Given the description of an element on the screen output the (x, y) to click on. 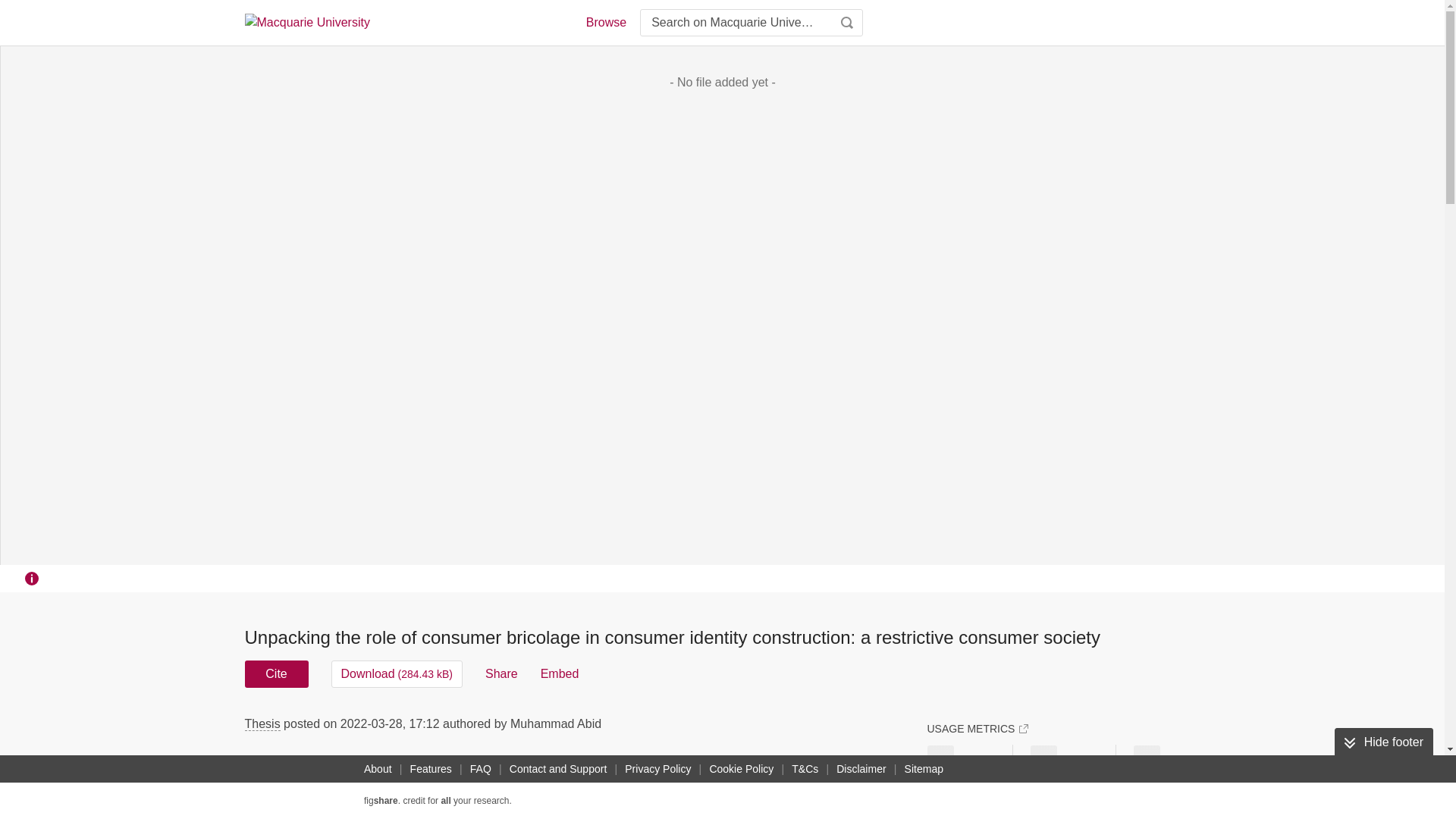
Contact and Support (558, 769)
Features (431, 769)
Privacy Policy (657, 769)
About (377, 769)
Disclaimer (860, 769)
Hide footer (1383, 742)
USAGE METRICS (976, 728)
Share (501, 673)
FAQ (480, 769)
Embed (559, 673)
